Given the description of an element on the screen output the (x, y) to click on. 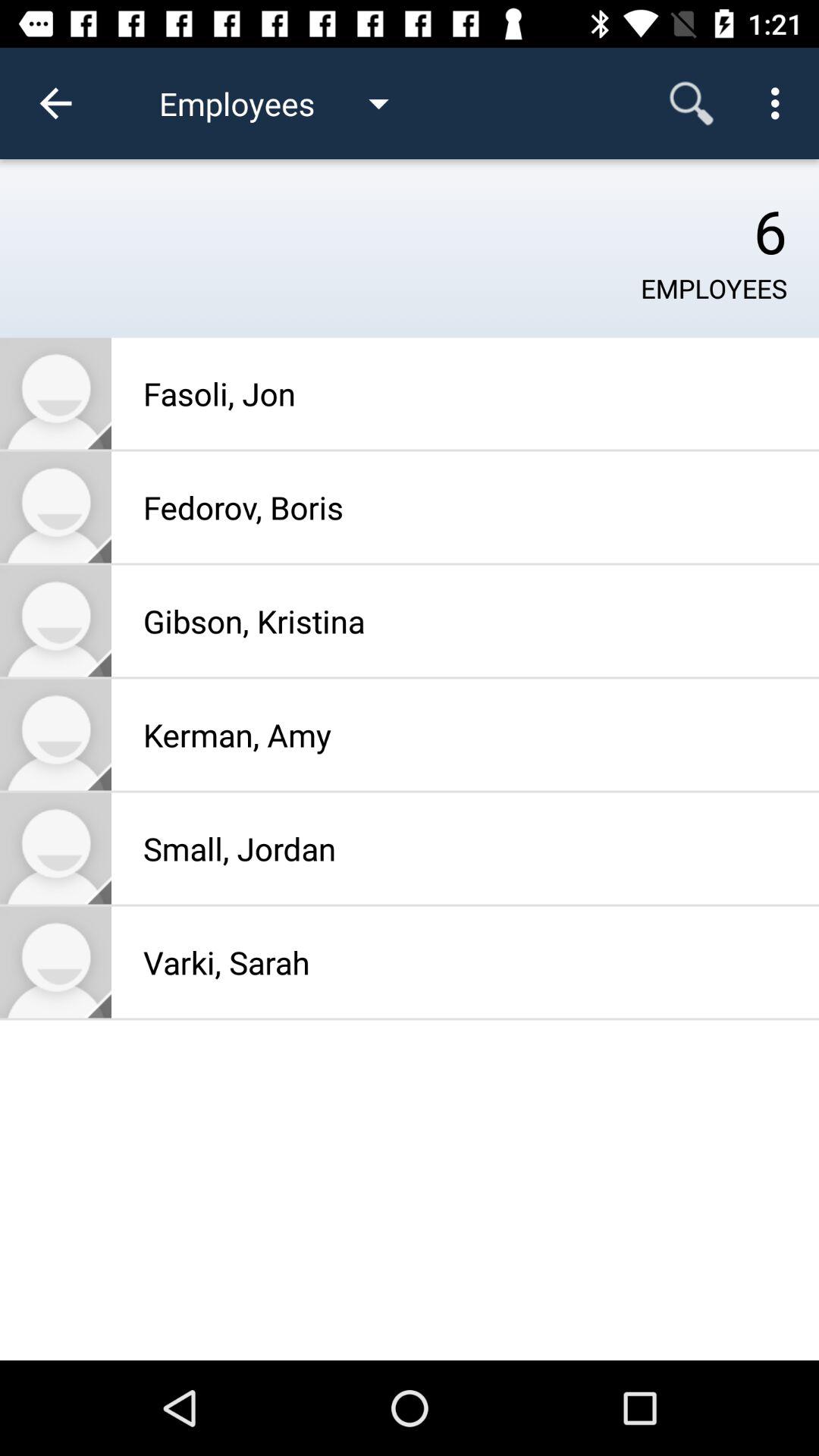
view contact information (55, 962)
